Given the description of an element on the screen output the (x, y) to click on. 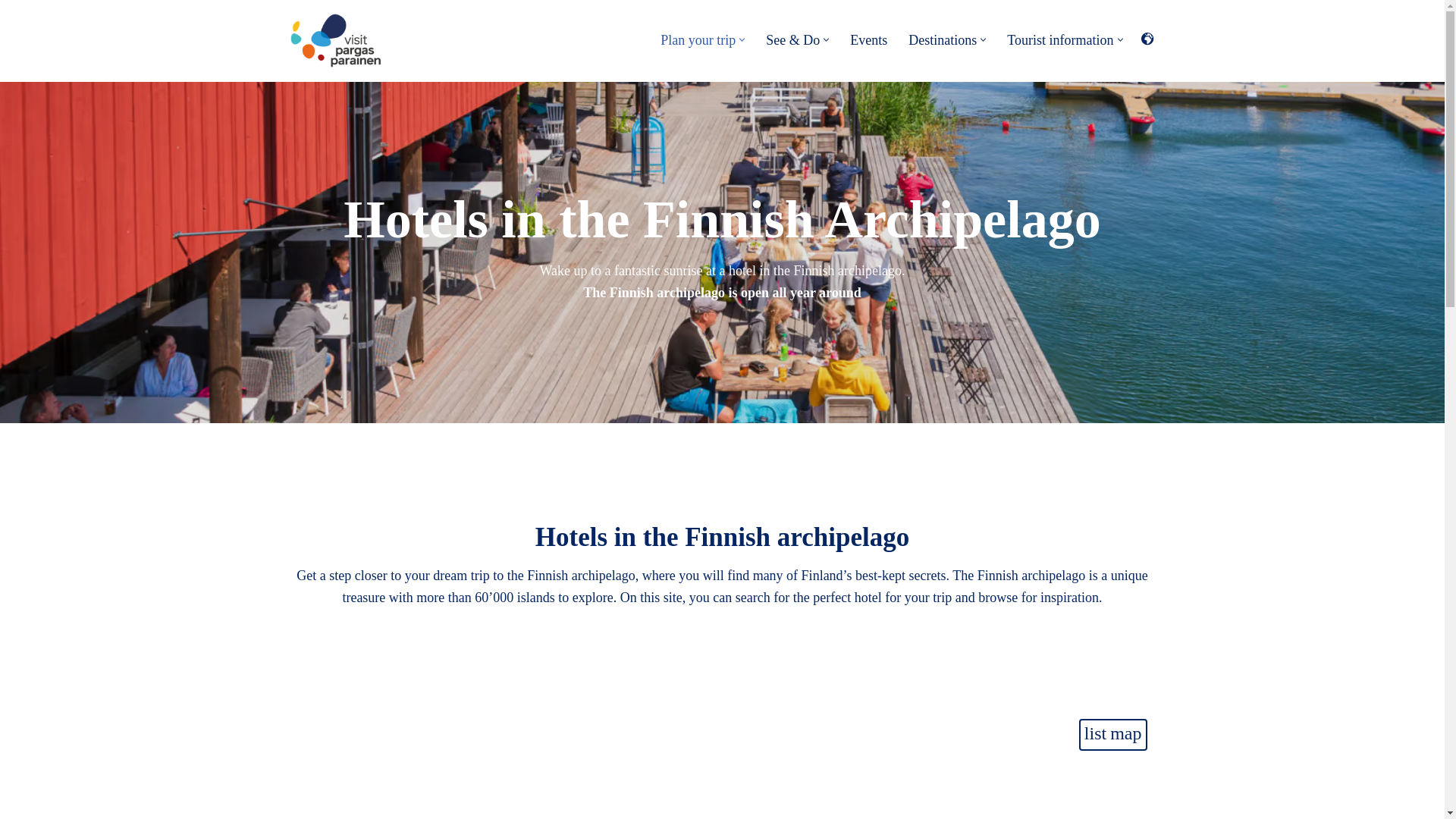
Plan your trip (698, 39)
Destinations (942, 39)
Skip to content (11, 31)
Events (868, 39)
